Given the description of an element on the screen output the (x, y) to click on. 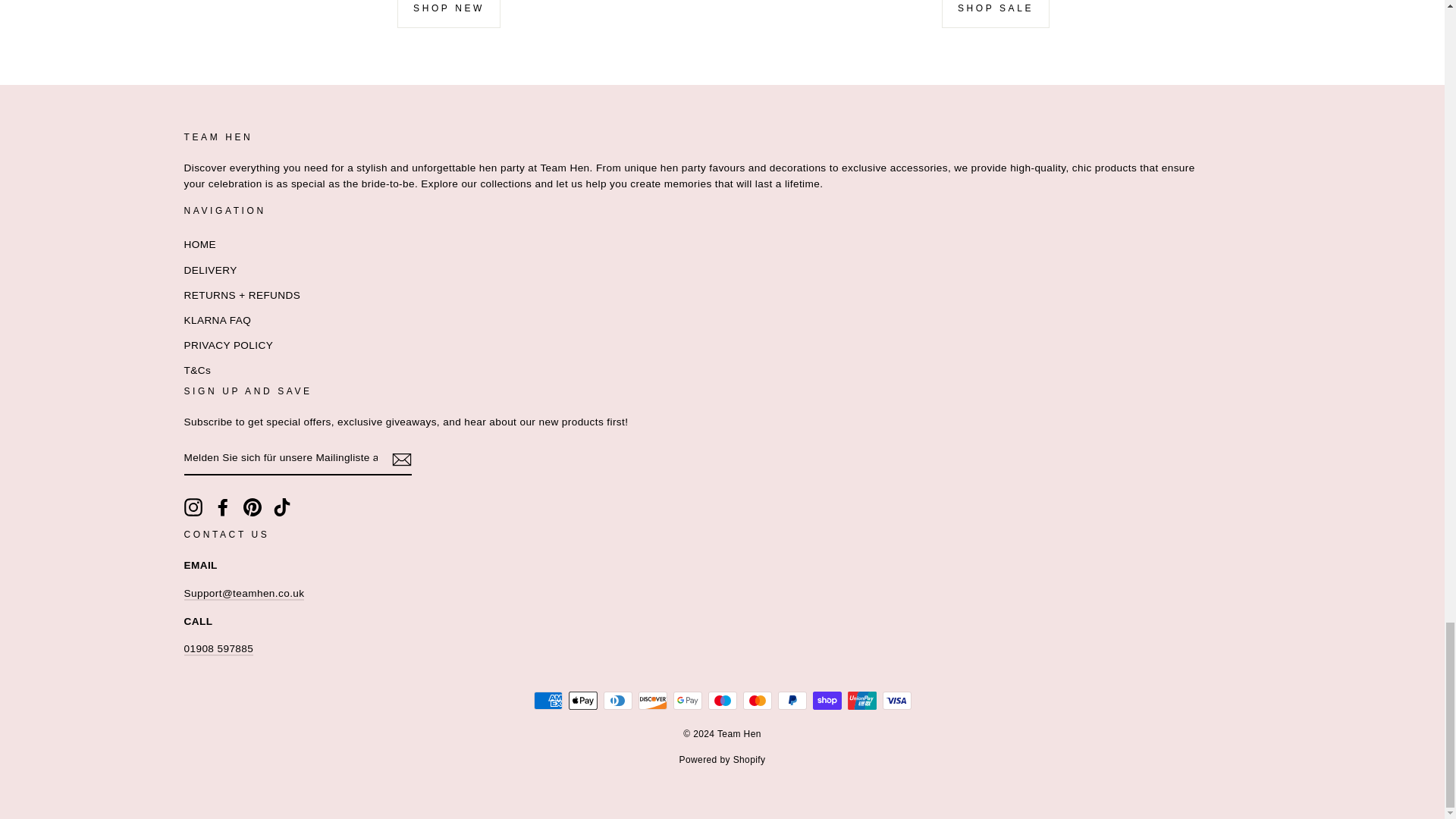
Team Hen auf Instagram (192, 506)
Team Hen auf Facebook (222, 506)
Apple Pay (582, 700)
Team Hen auf TikTok (282, 506)
Team Hen auf Pinterest (251, 506)
American Express (548, 700)
